Given the description of an element on the screen output the (x, y) to click on. 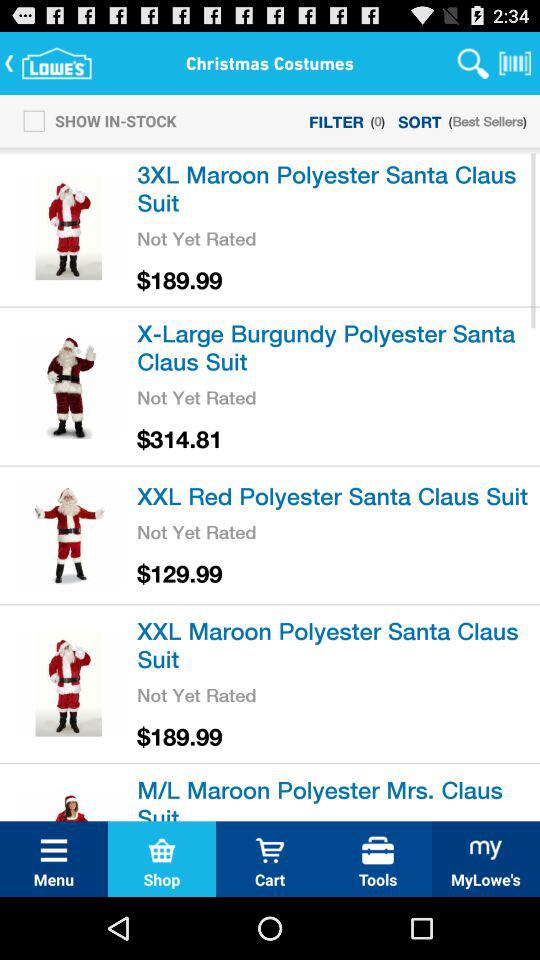
scroll to m l maroon item (335, 796)
